Given the description of an element on the screen output the (x, y) to click on. 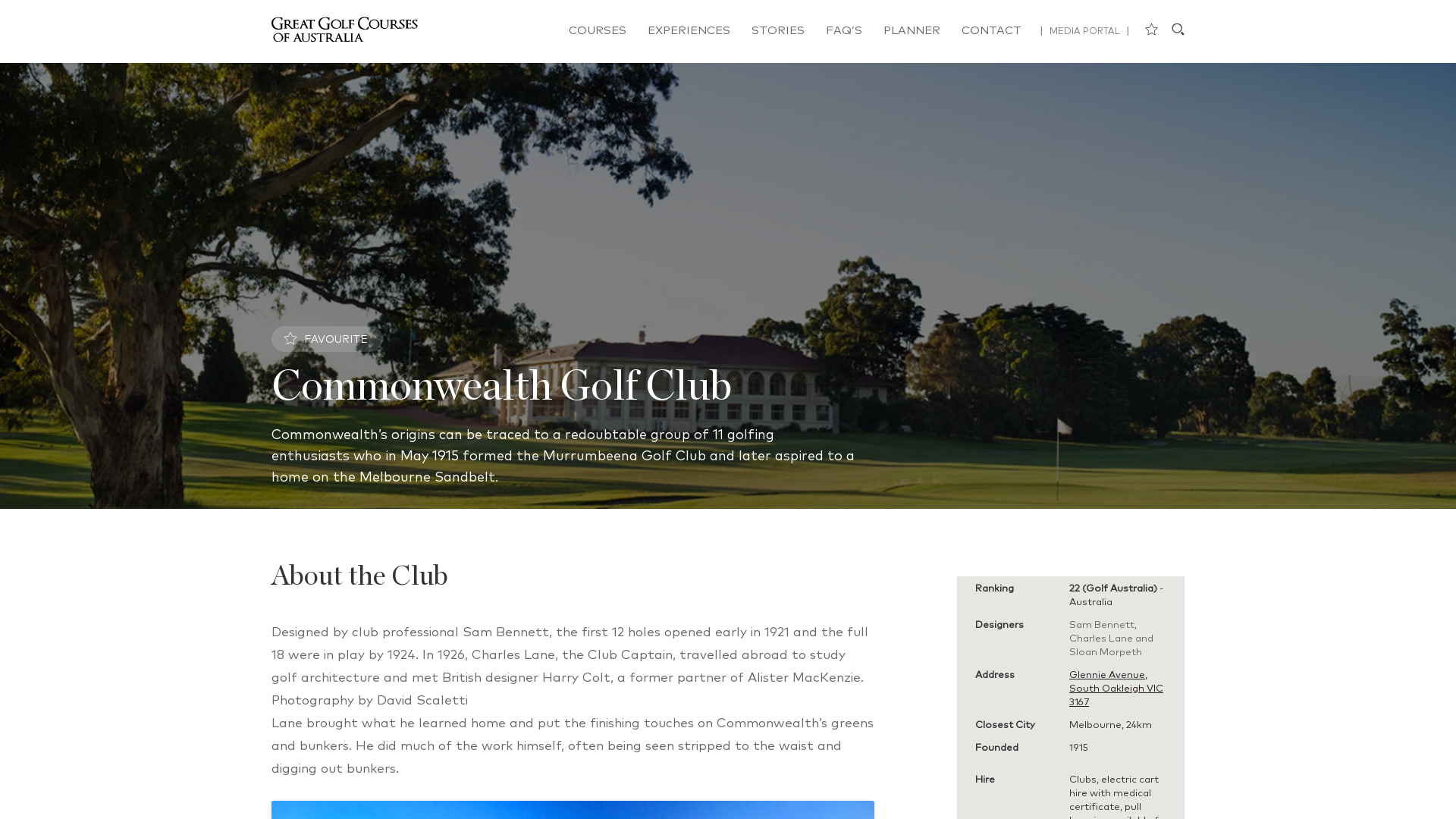
EXPERIENCES Element type: text (688, 30)
CONTACT Element type: text (991, 30)
STORIES Element type: text (777, 30)
PLANNER Element type: text (911, 30)
Glennie Avenue, South Oakleigh VIC 3167 Element type: text (1116, 688)
FAVOURITE Element type: text (326, 338)
COURSES Element type: text (597, 30)
MEDIA PORTAL Element type: text (1084, 31)
Back to home Element type: hover (350, 30)
